Given the description of an element on the screen output the (x, y) to click on. 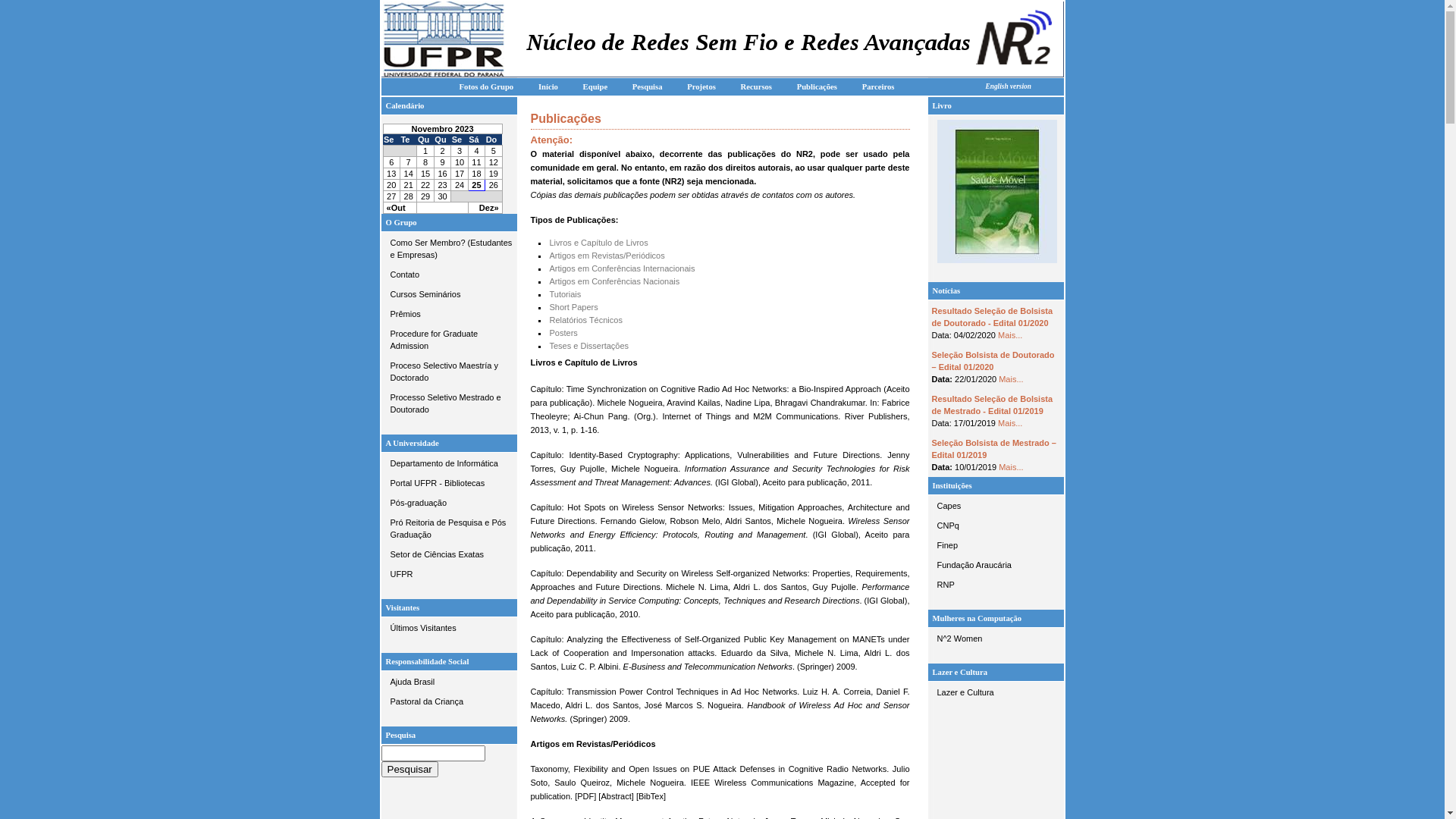
RNP Element type: text (995, 584)
Posters Element type: text (563, 332)
Ajuda Brasil Element type: text (448, 681)
Equipe Element type: text (595, 86)
Como Ser Membro? (Estudantes e Empresas) Element type: text (448, 248)
UFPR Element type: text (448, 573)
English version Element type: text (1007, 86)
Pesquisar Element type: text (408, 769)
Parceiros Element type: text (878, 86)
N^2 Women Element type: text (995, 638)
Mais... Element type: text (1009, 334)
Lazer e Cultura Element type: text (995, 692)
Mais... Element type: text (1010, 378)
CNPq Element type: text (995, 525)
Pesquisa Element type: text (647, 86)
Capes Element type: text (995, 505)
Short Papers Element type: text (573, 306)
Processo Seletivo Mestrado e Doutorado Element type: text (448, 403)
Procedure for Graduate Admission Element type: text (448, 339)
Projetos Element type: text (701, 86)
Fotos do Grupo Element type: text (486, 86)
Mais... Element type: text (1010, 466)
Finep Element type: text (995, 545)
Contato Element type: text (448, 274)
Mais... Element type: text (1009, 422)
Recursos Element type: text (756, 86)
Portal UFPR - Bibliotecas Element type: text (448, 482)
Tutoriais Element type: text (564, 293)
